Given the description of an element on the screen output the (x, y) to click on. 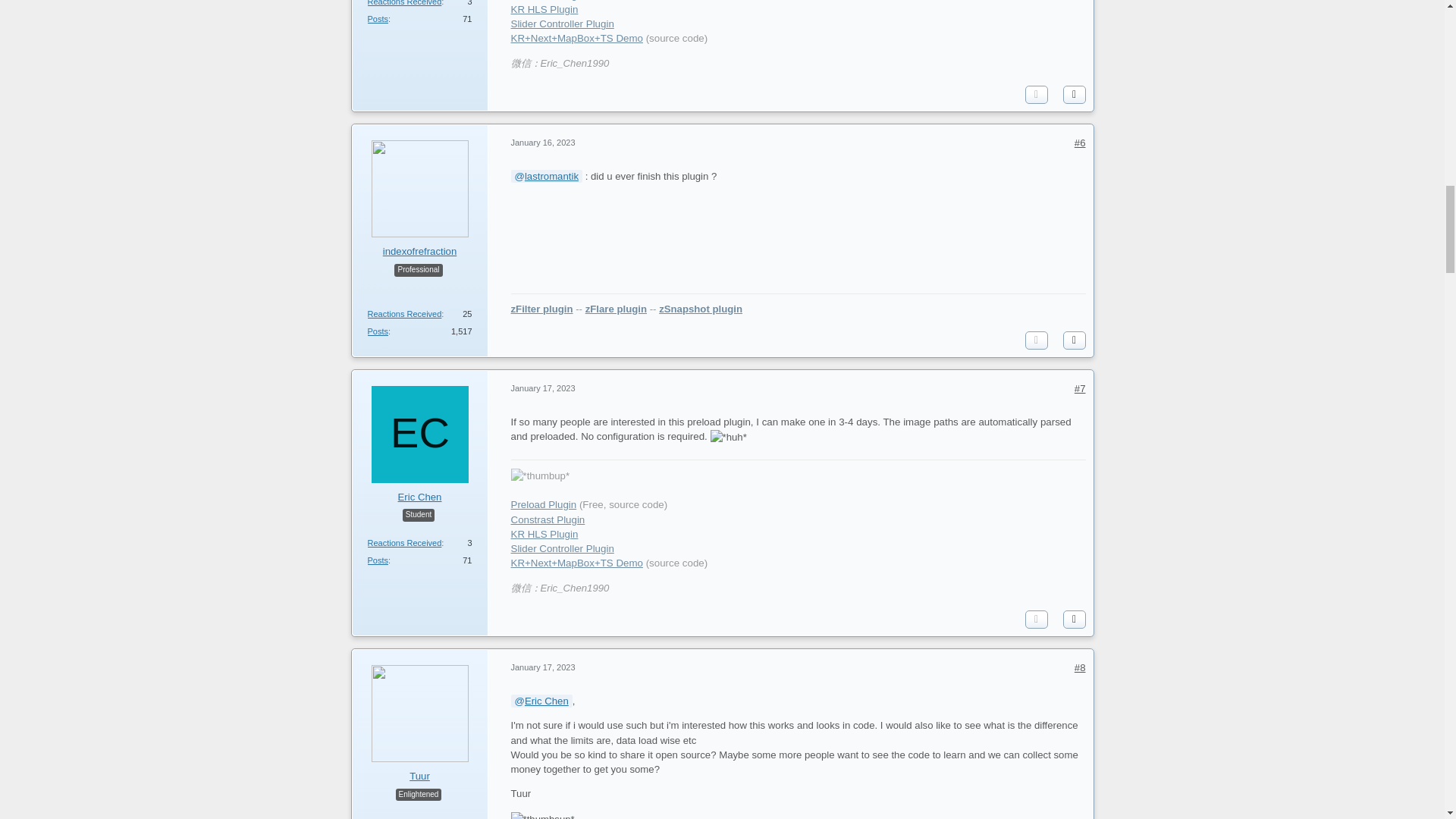
thumbup (540, 475)
huh (727, 436)
thumbsup (543, 815)
